Given the description of an element on the screen output the (x, y) to click on. 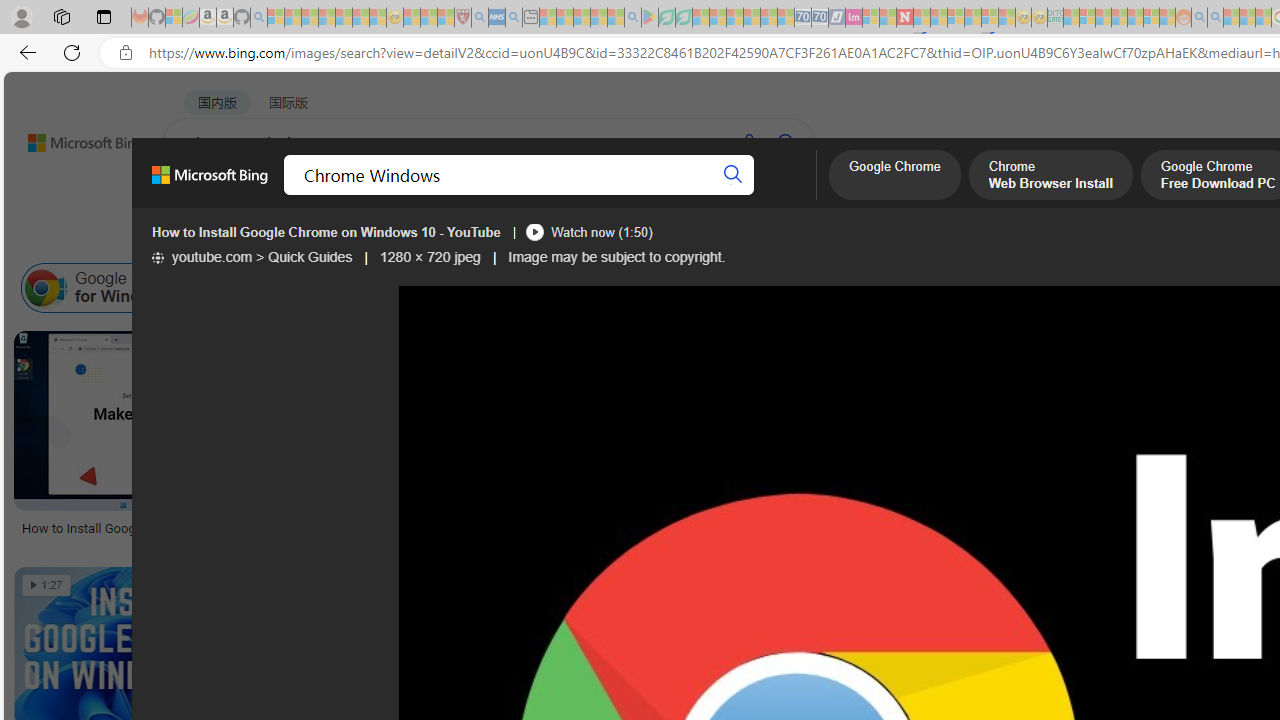
Install Google Chrome Windows 8 (1062, 287)
NCL Adult Asthma Inhaler Choice Guideline - Sleeping (497, 17)
Search (733, 174)
Layout (443, 237)
Google Chrome for Windows (114, 287)
Chrome Web Browser Install (1049, 177)
Bluey: Let's Play! - Apps on Google Play - Sleeping (649, 17)
